Given the description of an element on the screen output the (x, y) to click on. 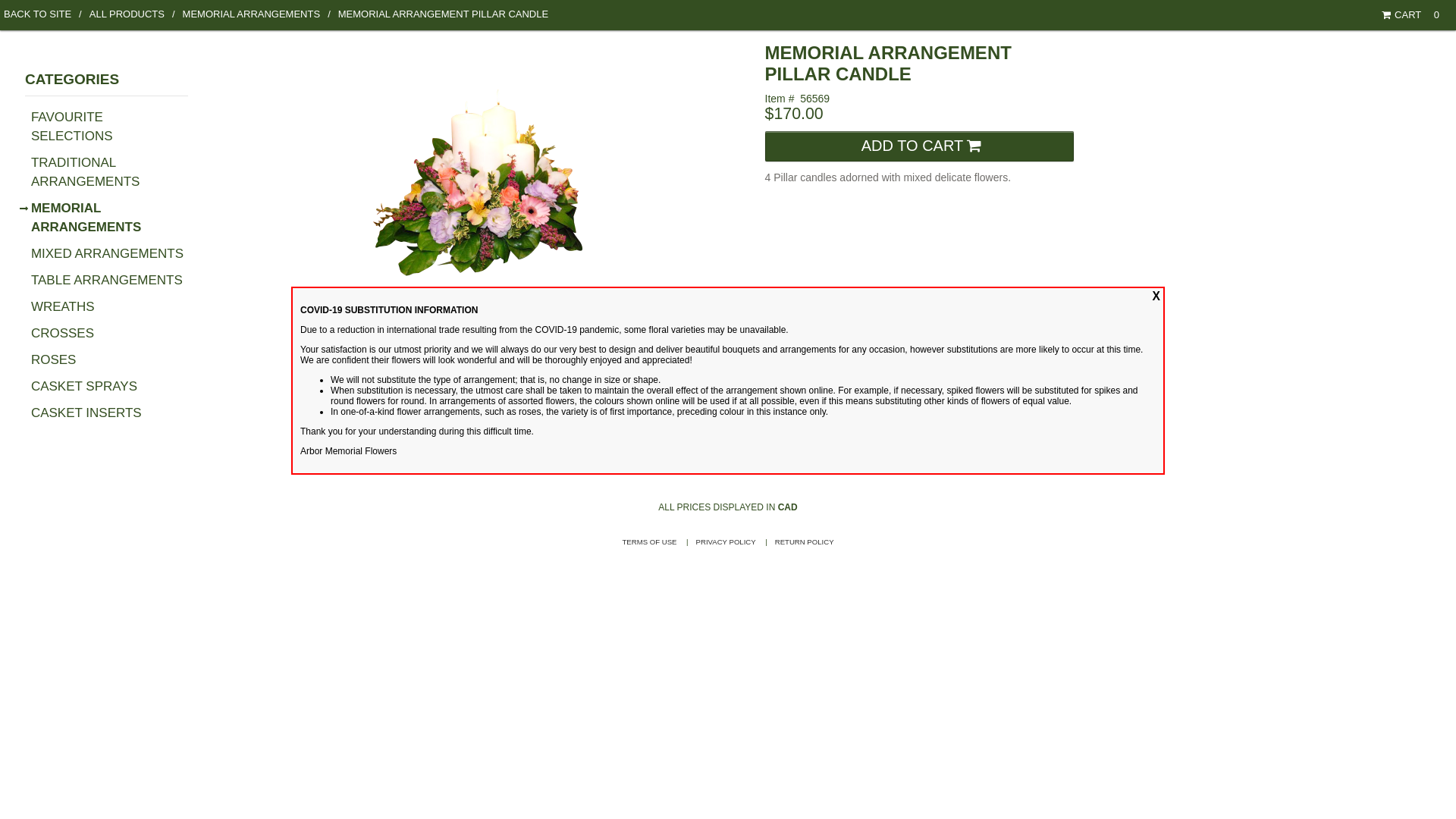
CASKET SPRAYS Element type: text (84, 386)
WREATHS Element type: text (62, 306)
TRADITIONAL ARRANGEMENTS Element type: text (85, 171)
MIXED ARRANGEMENTS Element type: text (107, 253)
FAVOURITE SELECTIONS Element type: text (71, 126)
BACK TO SITE Element type: text (42, 13)
ROSES Element type: text (53, 359)
CART Element type: text (1404, 14)
MEMORIAL ARRANGEMENTS Element type: text (256, 13)
PRIVACY POLICY Element type: text (726, 541)
ALL PRODUCTS Element type: text (132, 13)
Memorial Arrangement For Urn Small Element type: hover (599, 419)
CASKET INSERTS Element type: text (86, 412)
TERMS OF USE Element type: text (648, 541)
  Tropical Arrangement Blue Element type: hover (398, 419)
TABLE ARRANGEMENTS Element type: text (106, 280)
           Memorial Arrangement Right Small Element type: hover (532, 419)
RETURN POLICY Element type: text (804, 541)
CROSSES Element type: text (62, 333)
ADD TO CART Element type: text (919, 146)
Click to Enlarge Element type: text (559, 206)
MEMORIAL ARRANGEMENTS Element type: text (86, 217)
   Wicker Basket Arrangement Element type: hover (465, 419)
